Given the description of an element on the screen output the (x, y) to click on. 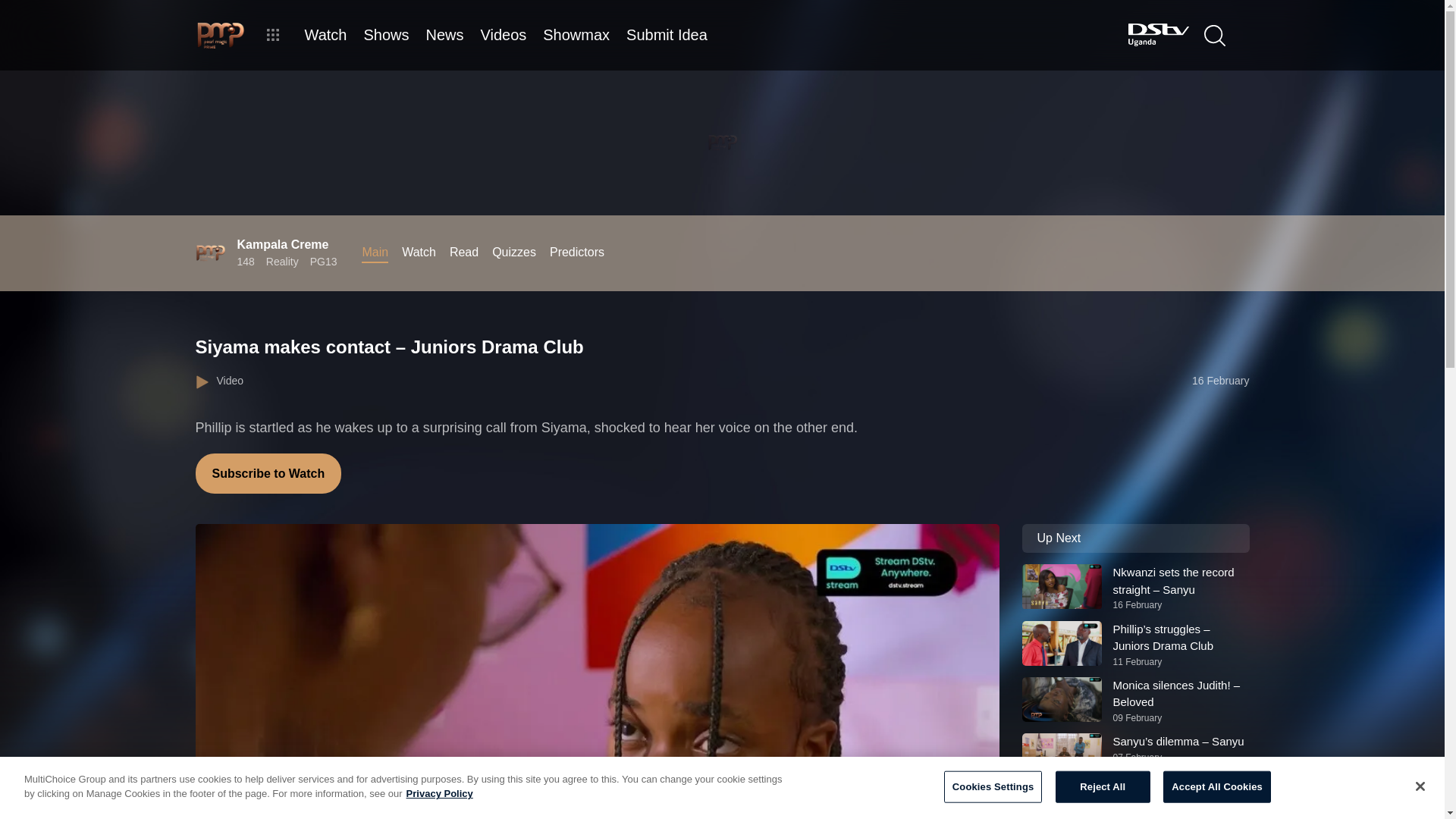
Watch (418, 252)
Read (464, 252)
Predictors (577, 252)
Main (374, 252)
Subscribe to Watch (268, 473)
Quizzes (513, 252)
